Given the description of an element on the screen output the (x, y) to click on. 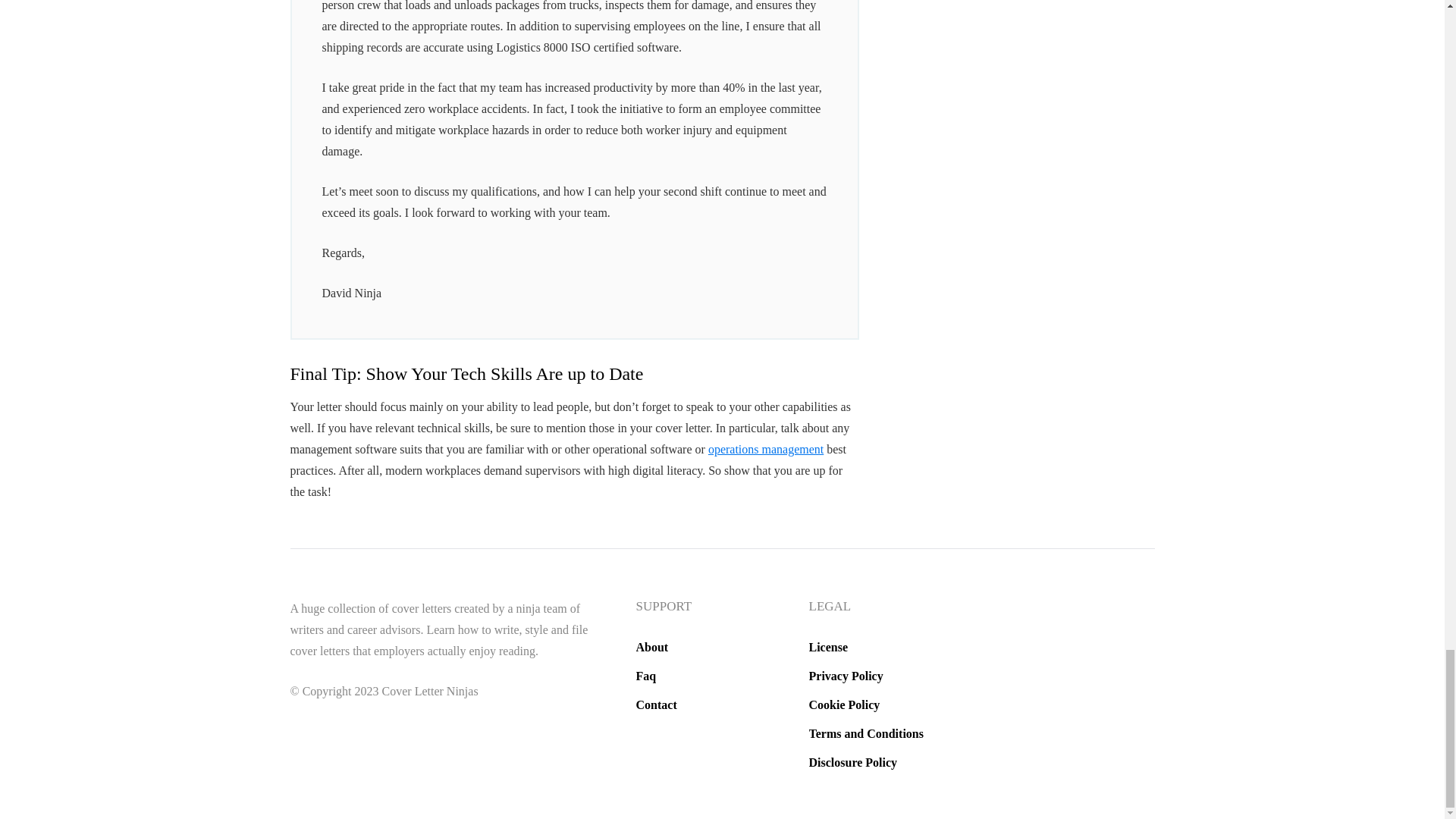
About (651, 646)
Privacy Policy (845, 675)
Disclosure Policy (852, 762)
operations management (765, 449)
Faq (645, 675)
Cookie Policy (843, 704)
Contact (655, 704)
License (827, 646)
Terms and Conditions (865, 733)
